Given the description of an element on the screen output the (x, y) to click on. 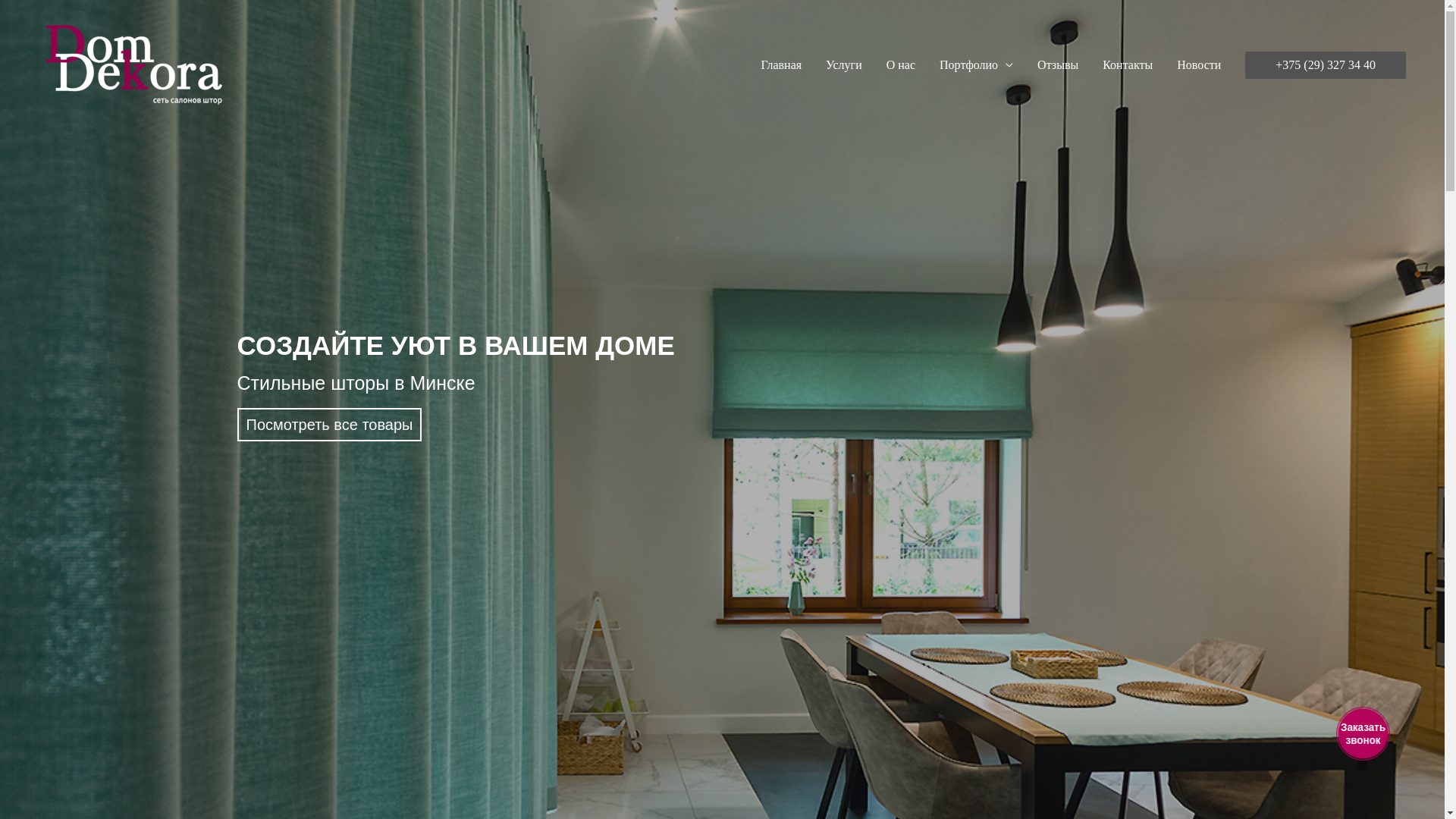
+375 (29) 327 34 40 Element type: text (1325, 64)
